Given the description of an element on the screen output the (x, y) to click on. 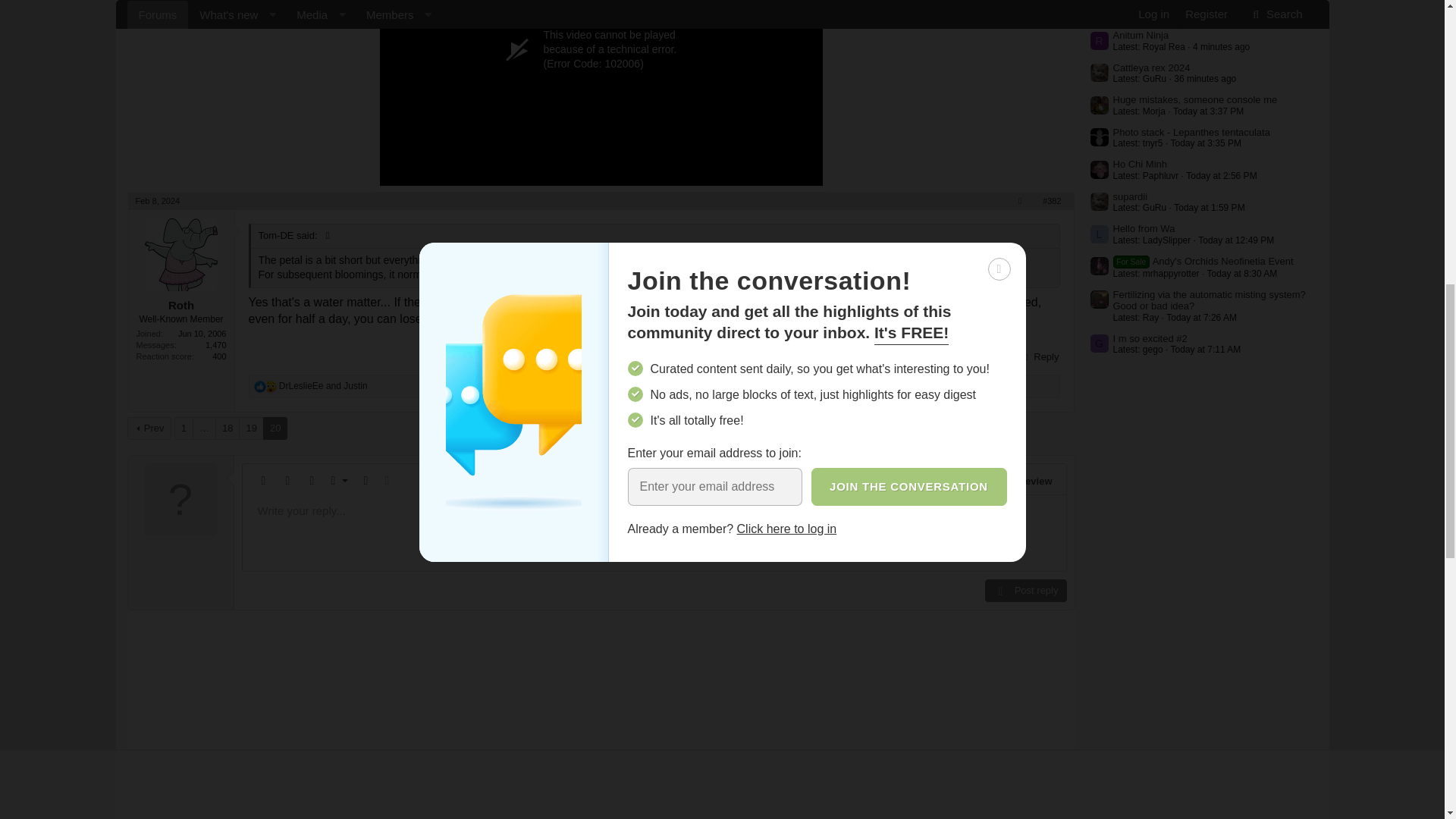
Like (258, 386)
Reply, quoting this message (1039, 356)
Feb 8, 2024 at 1:14 AM (157, 200)
Wow (269, 386)
